Given the description of an element on the screen output the (x, y) to click on. 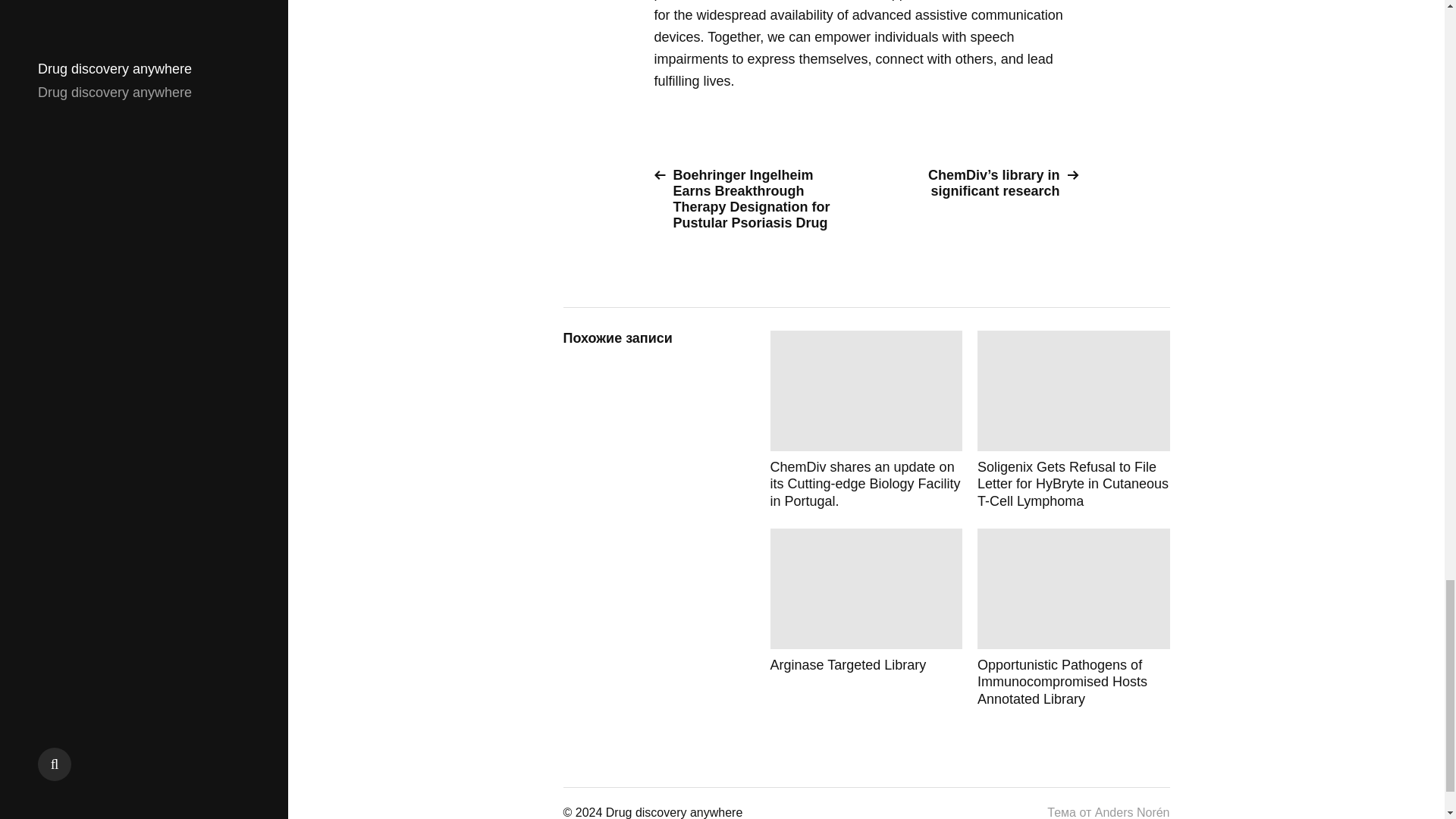
Arginase Targeted Library (866, 617)
